Given the description of an element on the screen output the (x, y) to click on. 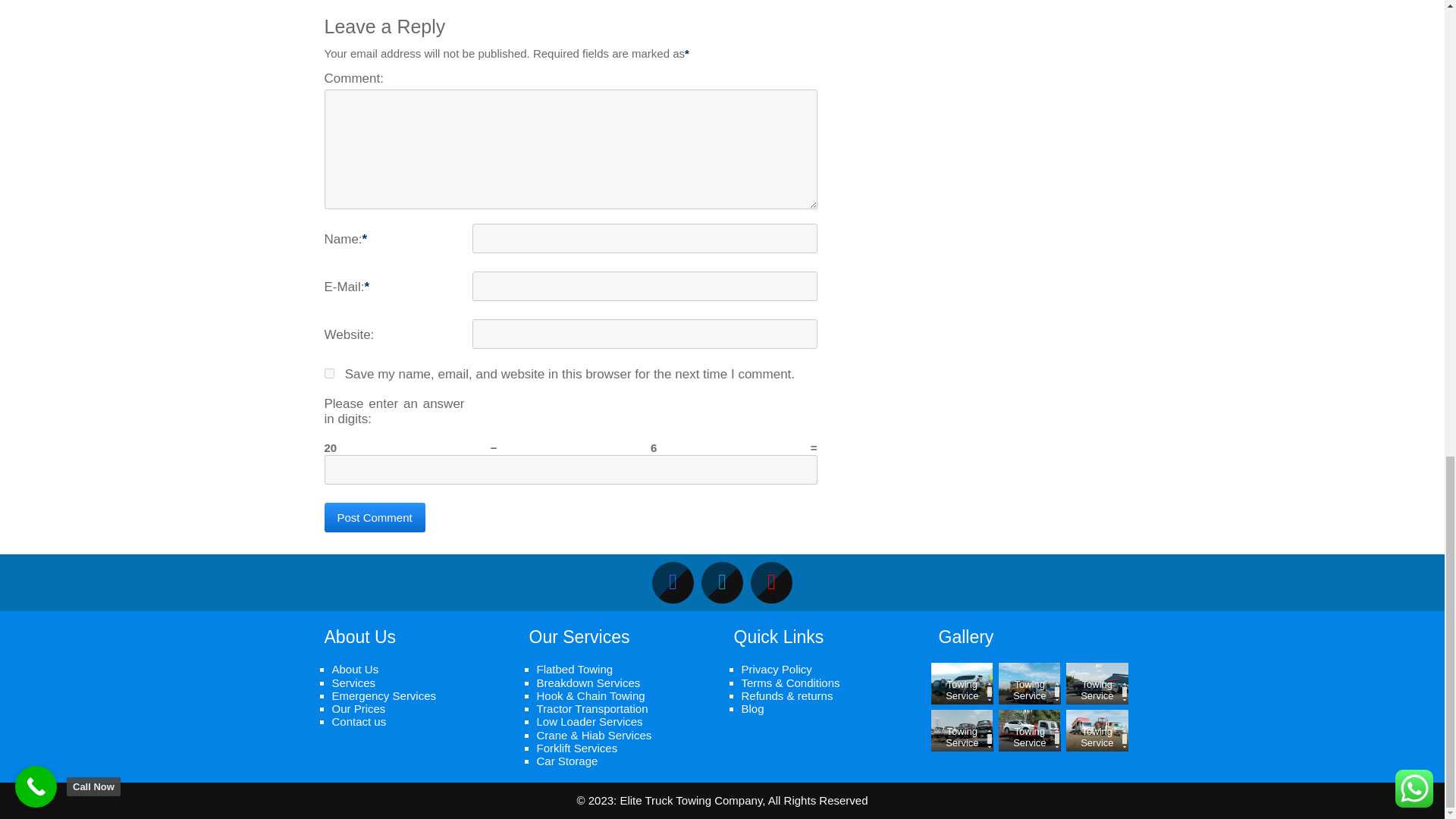
Post Comment (374, 517)
yes (329, 373)
Post Comment (374, 517)
